Given the description of an element on the screen output the (x, y) to click on. 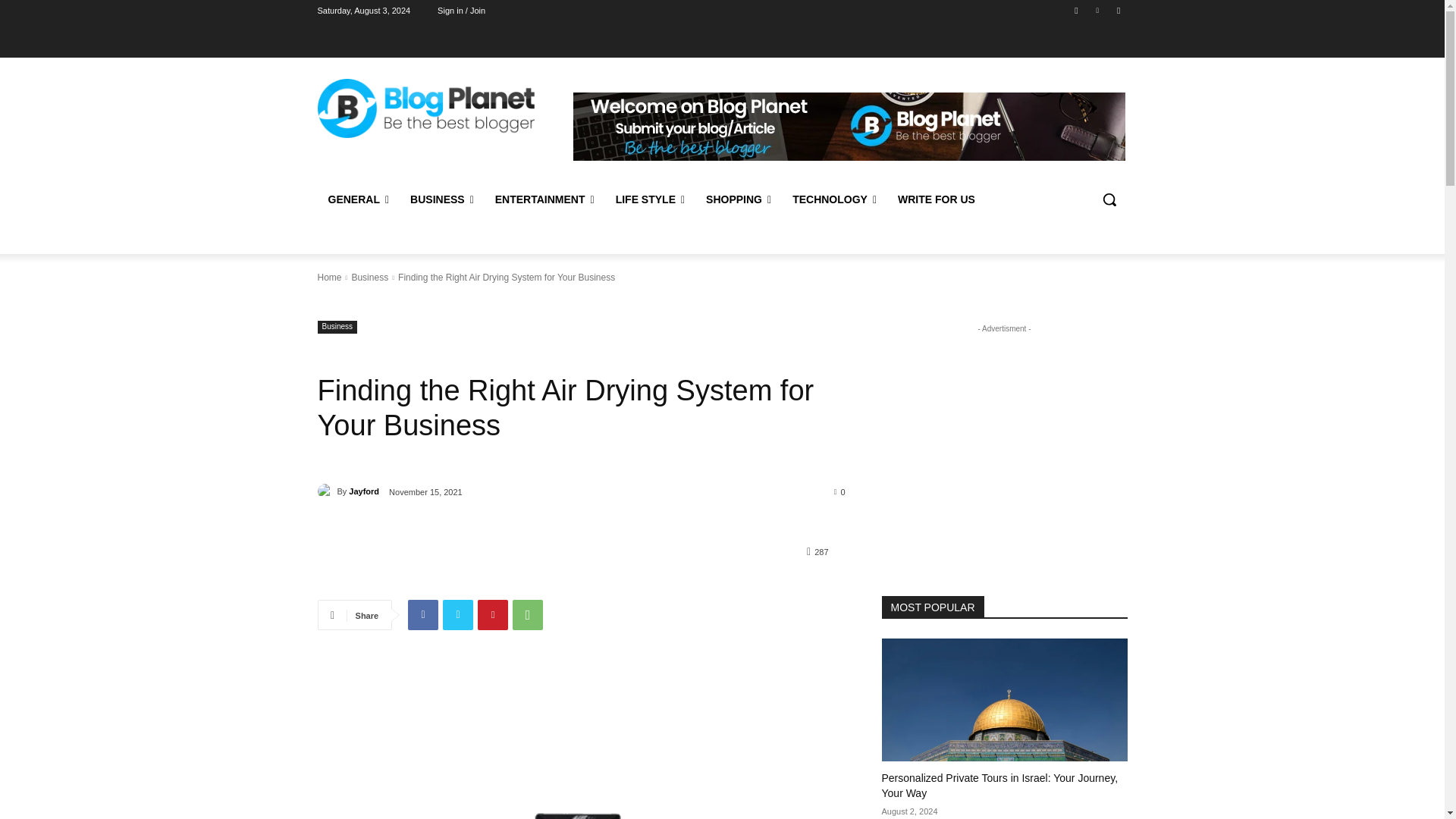
WhatsApp (527, 614)
Facebook (1075, 9)
Linkedin (1097, 9)
GENERAL (357, 198)
View all posts in Business (369, 276)
Facebook (422, 614)
Twitter (1117, 9)
Twitter (457, 614)
Pinterest (492, 614)
Jayford (326, 491)
